Given the description of an element on the screen output the (x, y) to click on. 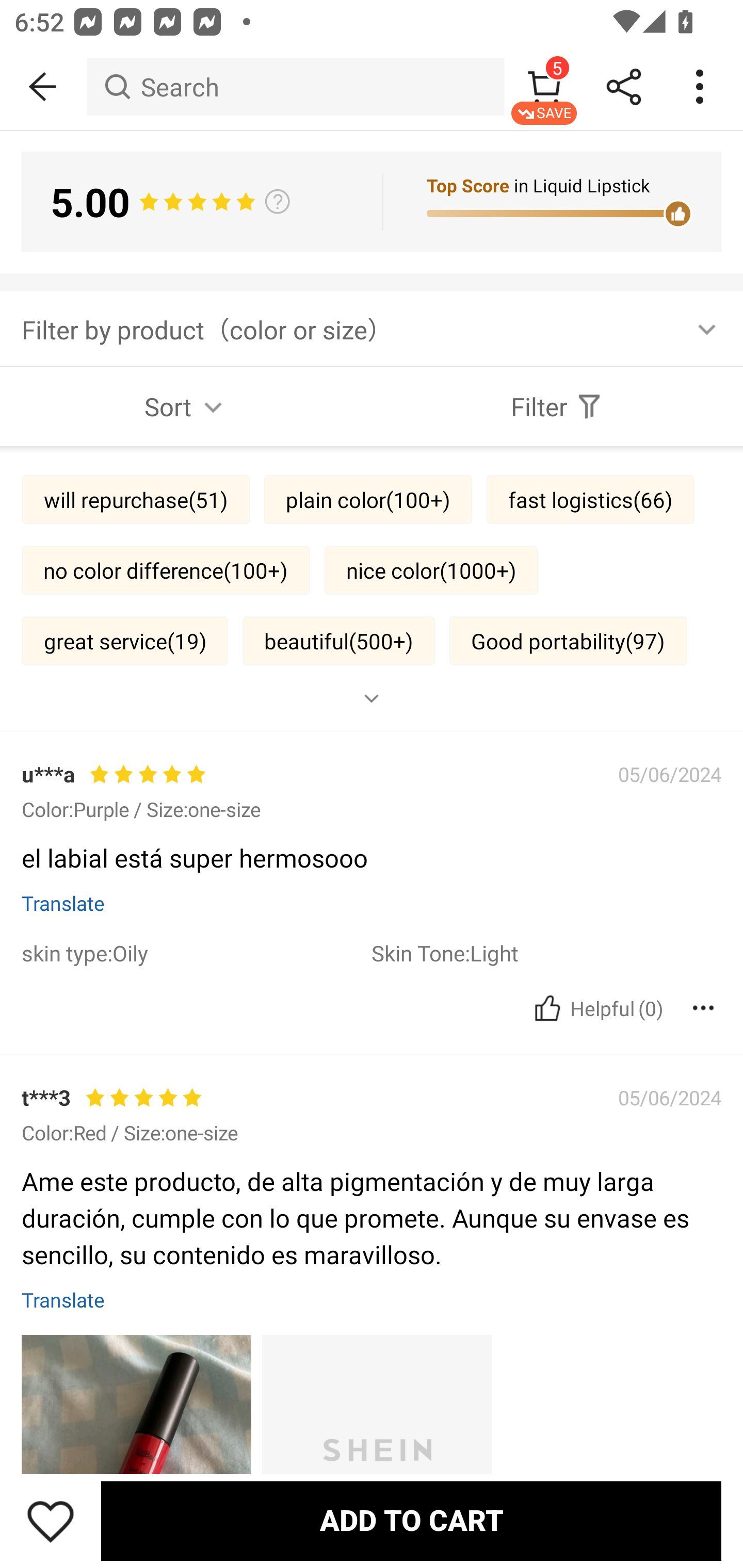
BACK (43, 86)
5 SAVE (543, 87)
Search (295, 87)
Filter by product（color or size） (371, 328)
Sort (185, 406)
Filter (557, 406)
will repurchase(51) (135, 499)
plain color(100‎+) (367, 499)
fast logistics(66) (590, 499)
no color difference(100‎+) (165, 569)
nice color(1000‎+) (430, 569)
great service(19) (124, 640)
beautiful(500‎+) (338, 640)
Good portability(97) (568, 640)
Translate (62, 903)
skin type:Oily (196, 952)
Skin Tone:Light (546, 952)
Cancel Helpful Was this article helpful? (0) (596, 1007)
Translate (62, 1299)
ADD TO CART (411, 1520)
Save (50, 1520)
